Given the description of an element on the screen output the (x, y) to click on. 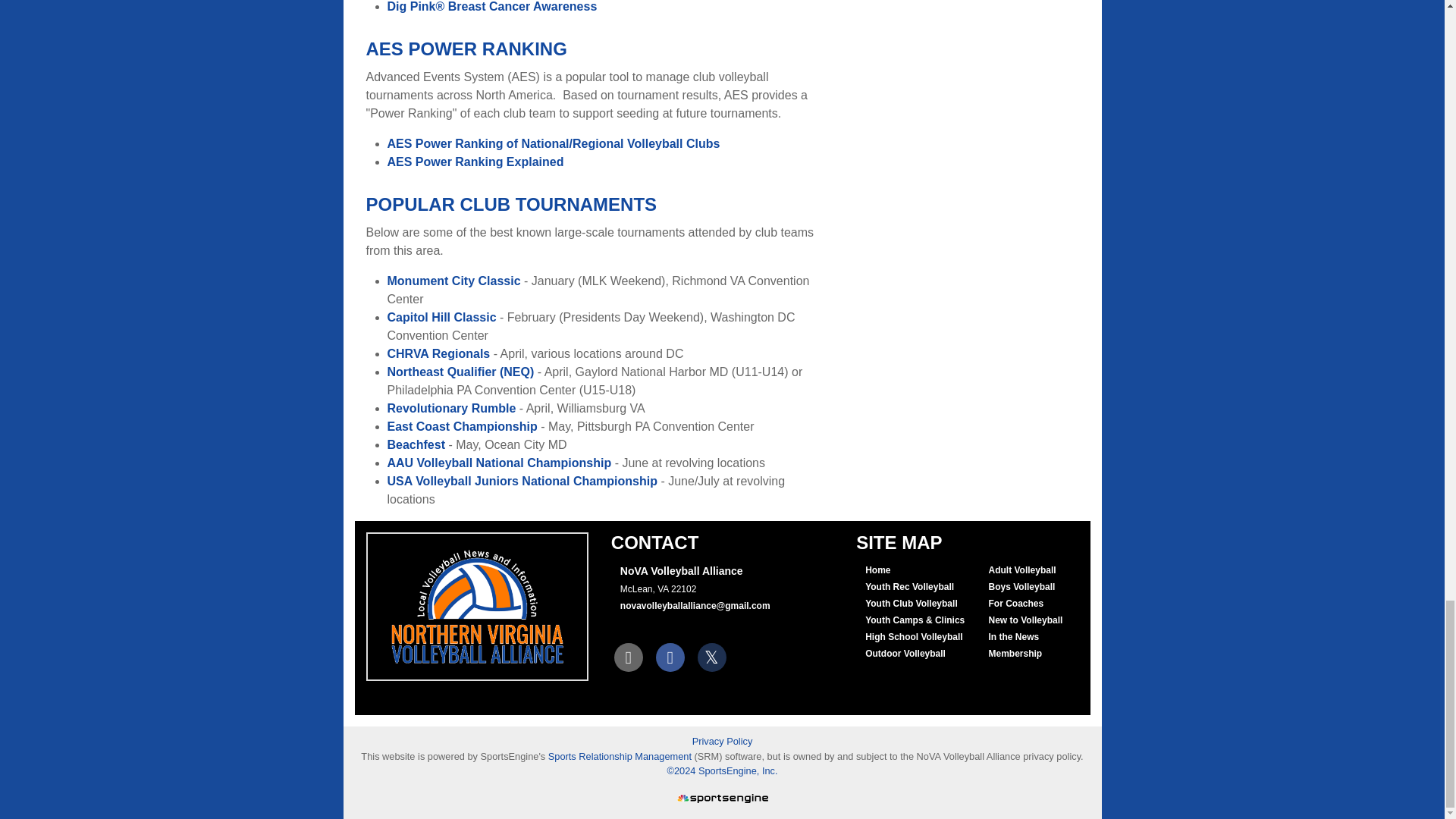
X App (711, 656)
E-Mail (628, 656)
Facebook (670, 656)
